Given the description of an element on the screen output the (x, y) to click on. 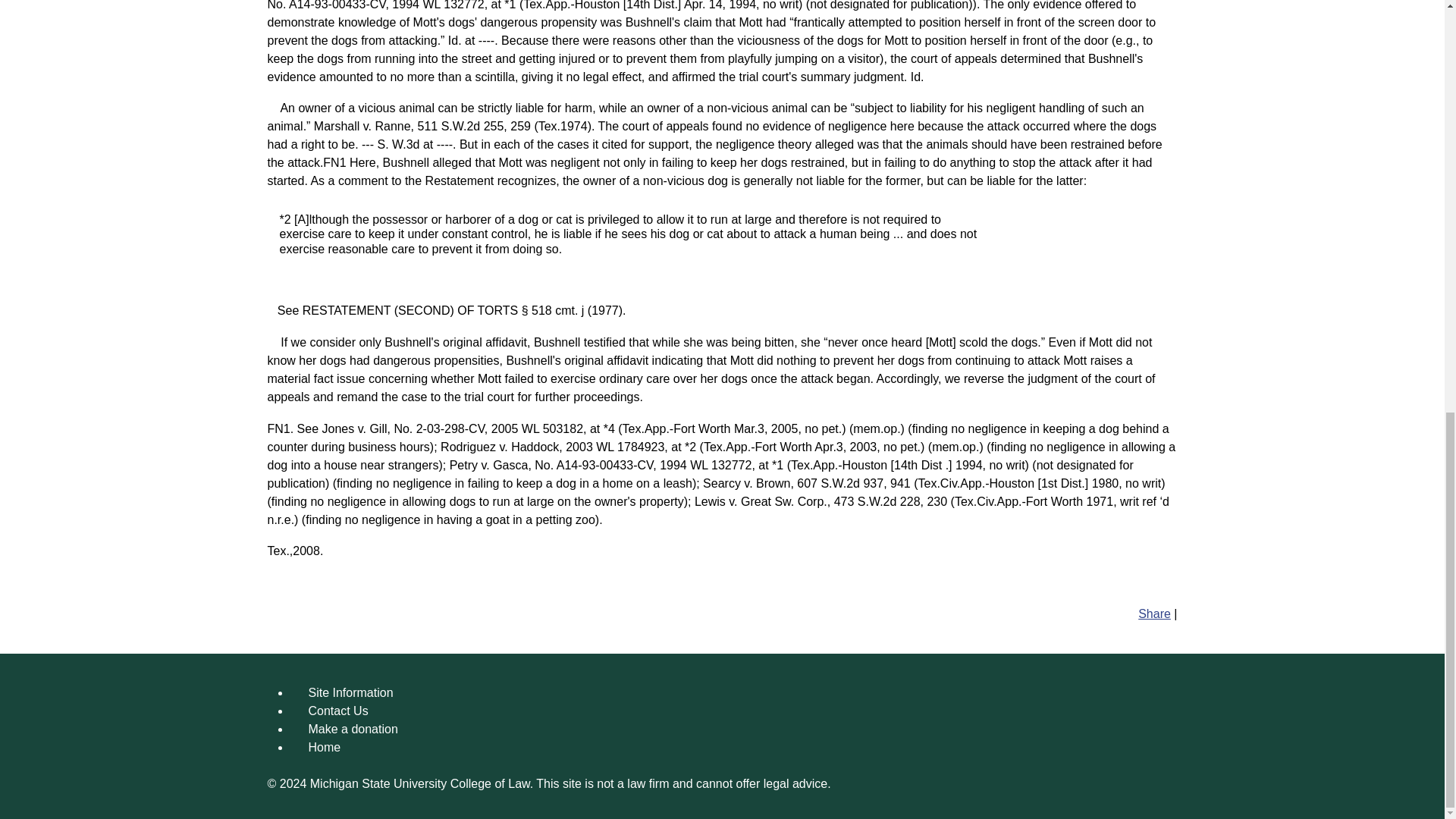
Share (1154, 613)
Home (323, 747)
Contact Us (337, 710)
College of Law (489, 783)
Site Information (349, 692)
Make a donation (351, 728)
